Given the description of an element on the screen output the (x, y) to click on. 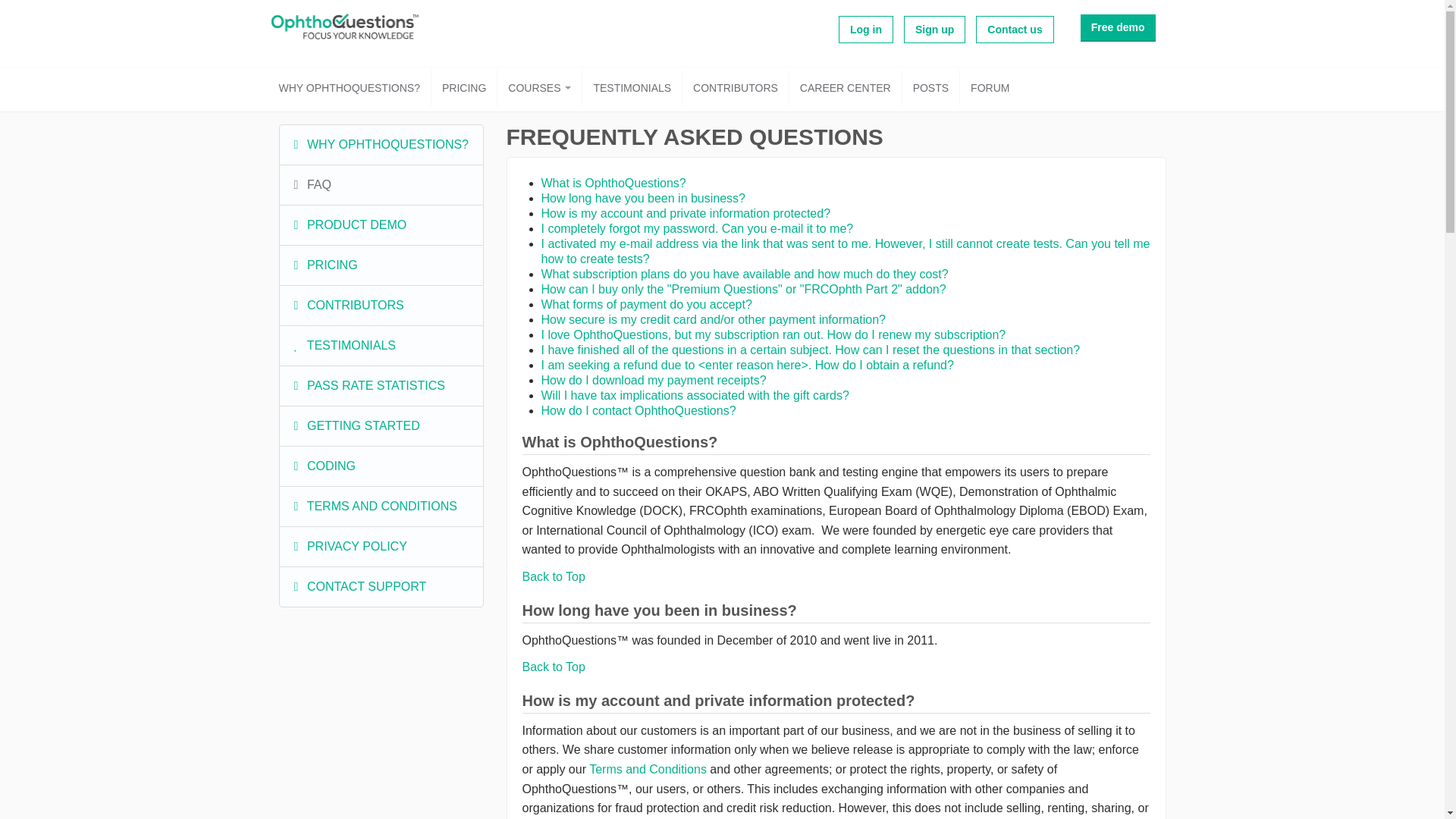
CONTRIBUTORS (735, 87)
Back to Top (553, 666)
What is OphthoQuestions? (613, 182)
What forms of payment do you accept? (646, 304)
POSTS (930, 87)
Contact us (1013, 29)
How is my account and private information protected? (686, 213)
Terms and Conditions (647, 768)
How do I download my payment receipts? (654, 379)
